Given the description of an element on the screen output the (x, y) to click on. 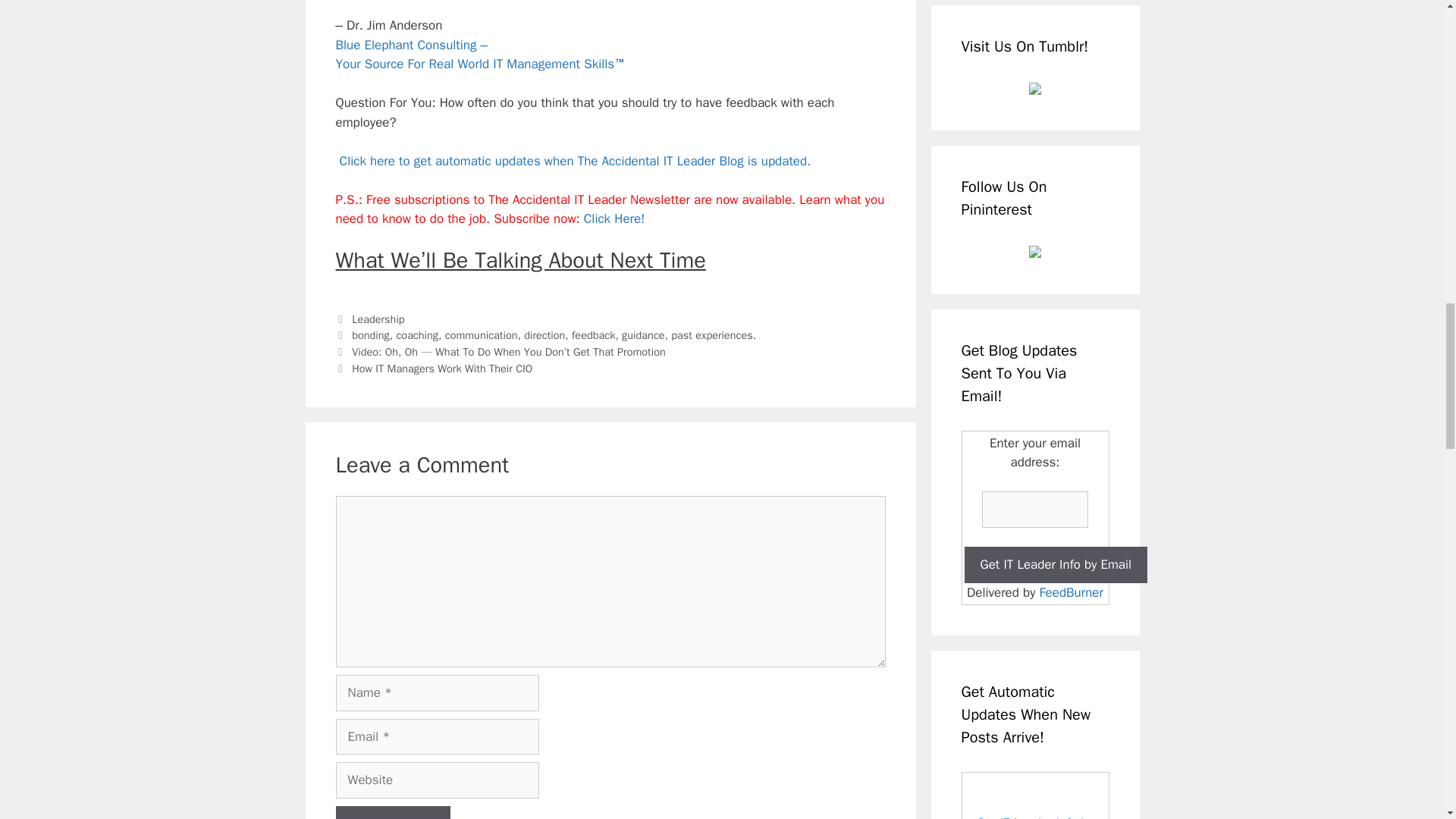
past experiences. (713, 335)
bonding (371, 335)
Blue Elephant Consulting - IT Management Consulting Services (479, 54)
guidance (643, 335)
Click Here! (614, 218)
Post Comment (391, 812)
Subscribe to my feed (1034, 795)
Subscribe to my feed (1034, 816)
Get IT Leader Info by Email (1055, 565)
Post Comment (391, 812)
direction (544, 335)
coaching (417, 335)
Subscribe to The Accidental IT Leader Newsletter (614, 218)
communication (481, 335)
